Given the description of an element on the screen output the (x, y) to click on. 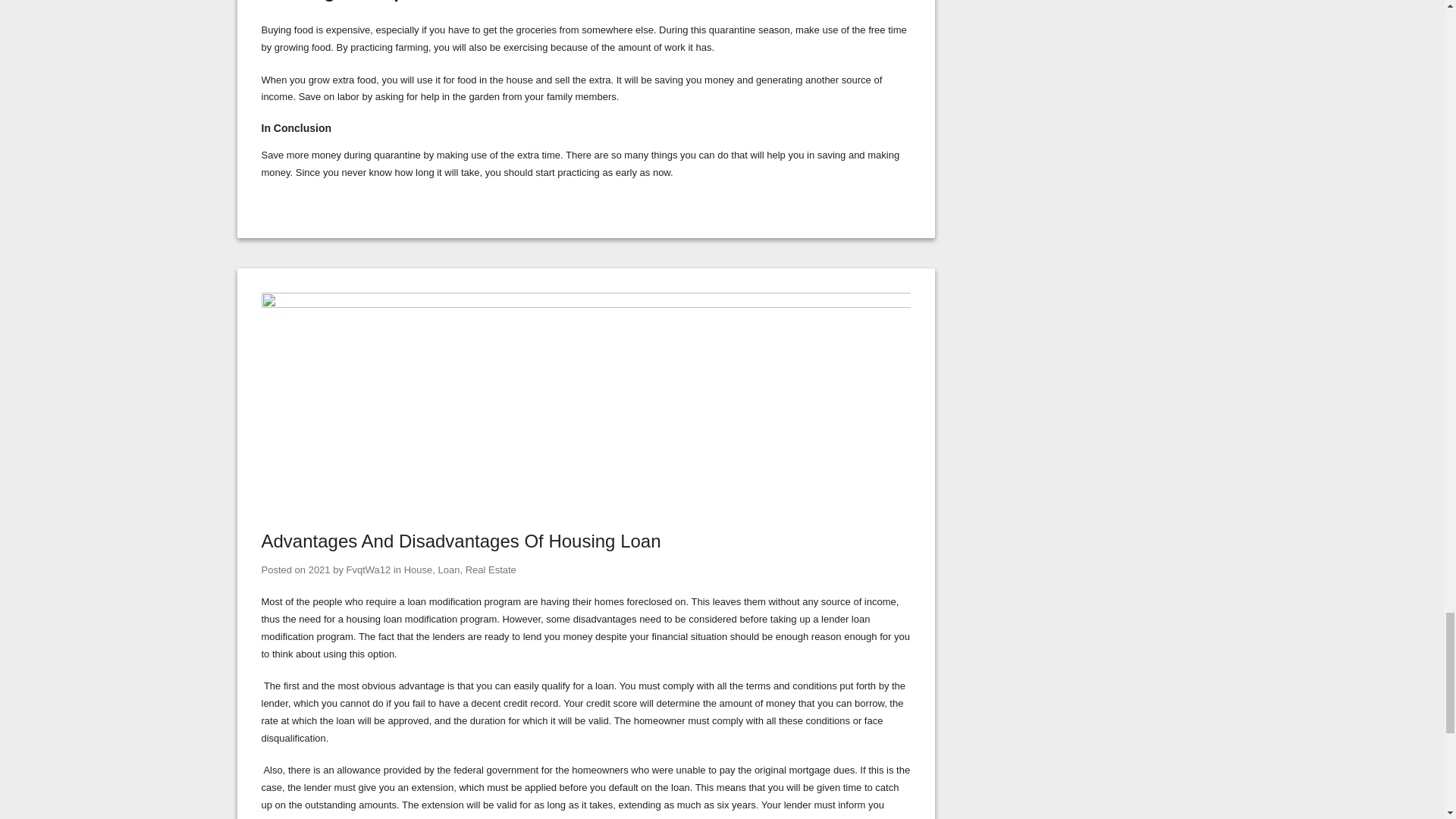
View all posts by FvqtWa12 (368, 569)
Advantages And Disadvantages Of Housing Loan (460, 540)
Advantages And Disadvantages Of Housing Loan (319, 569)
Advantages And Disadvantages Of Housing Loan (585, 304)
